Given the description of an element on the screen output the (x, y) to click on. 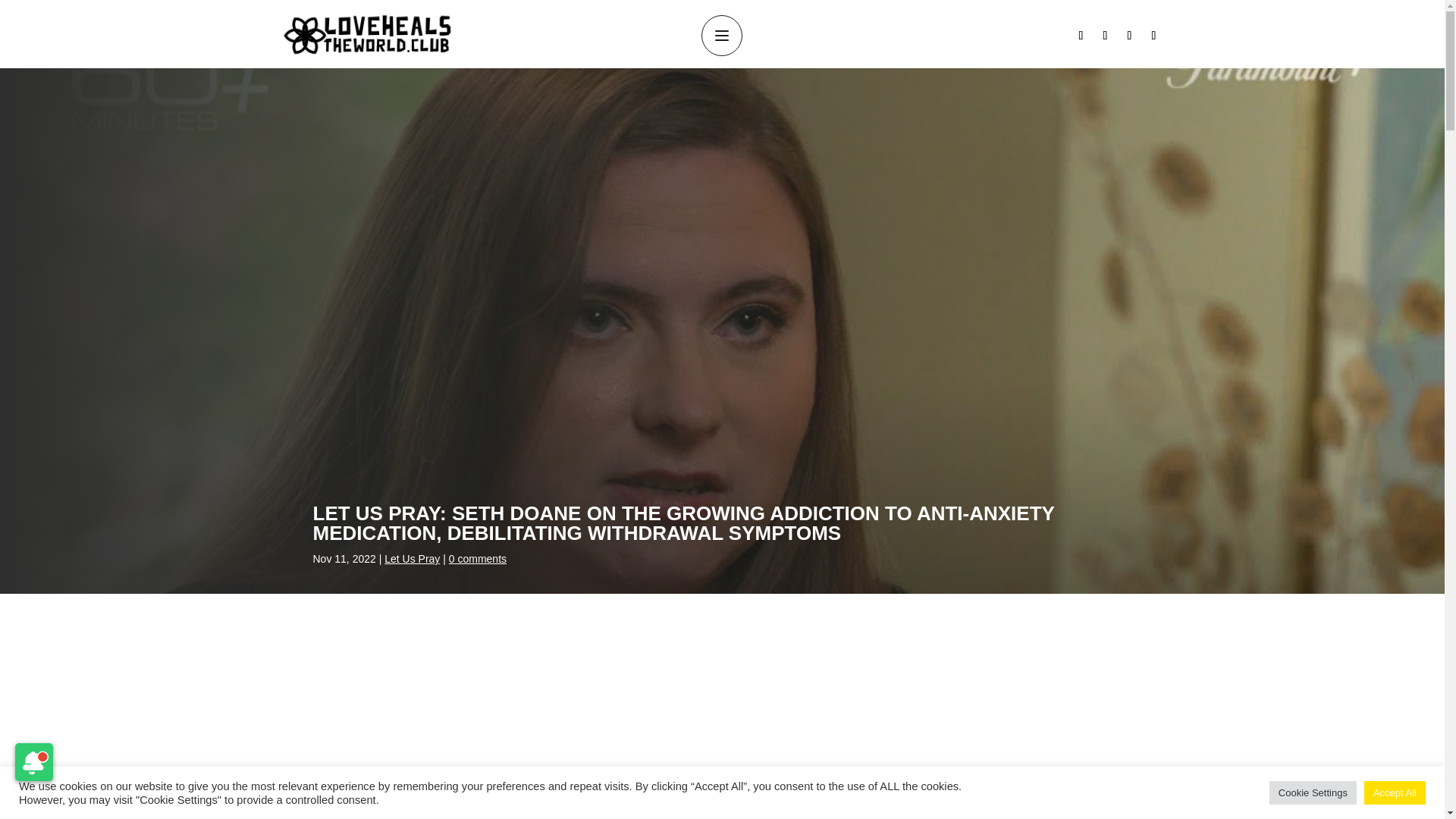
Follow on Instagram (1104, 35)
Follow on TikTok (1153, 35)
Follow on Facebook (1080, 35)
Follow on Twitter (1128, 35)
Let Us Pray (411, 558)
0 comments (477, 558)
